Given the description of an element on the screen output the (x, y) to click on. 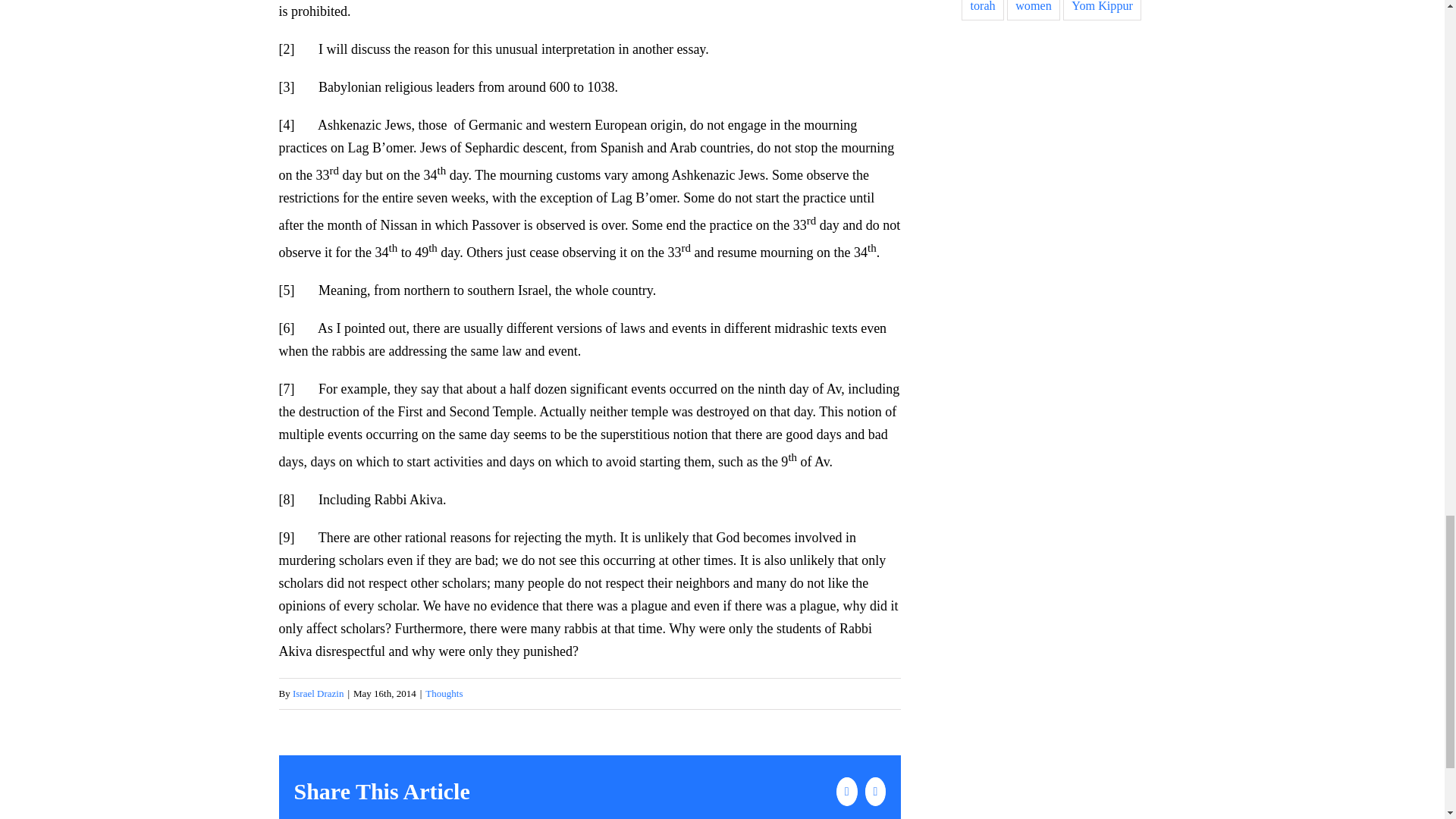
Israel Drazin (317, 693)
Posts by Israel Drazin (317, 693)
Thoughts (444, 693)
